Given the description of an element on the screen output the (x, y) to click on. 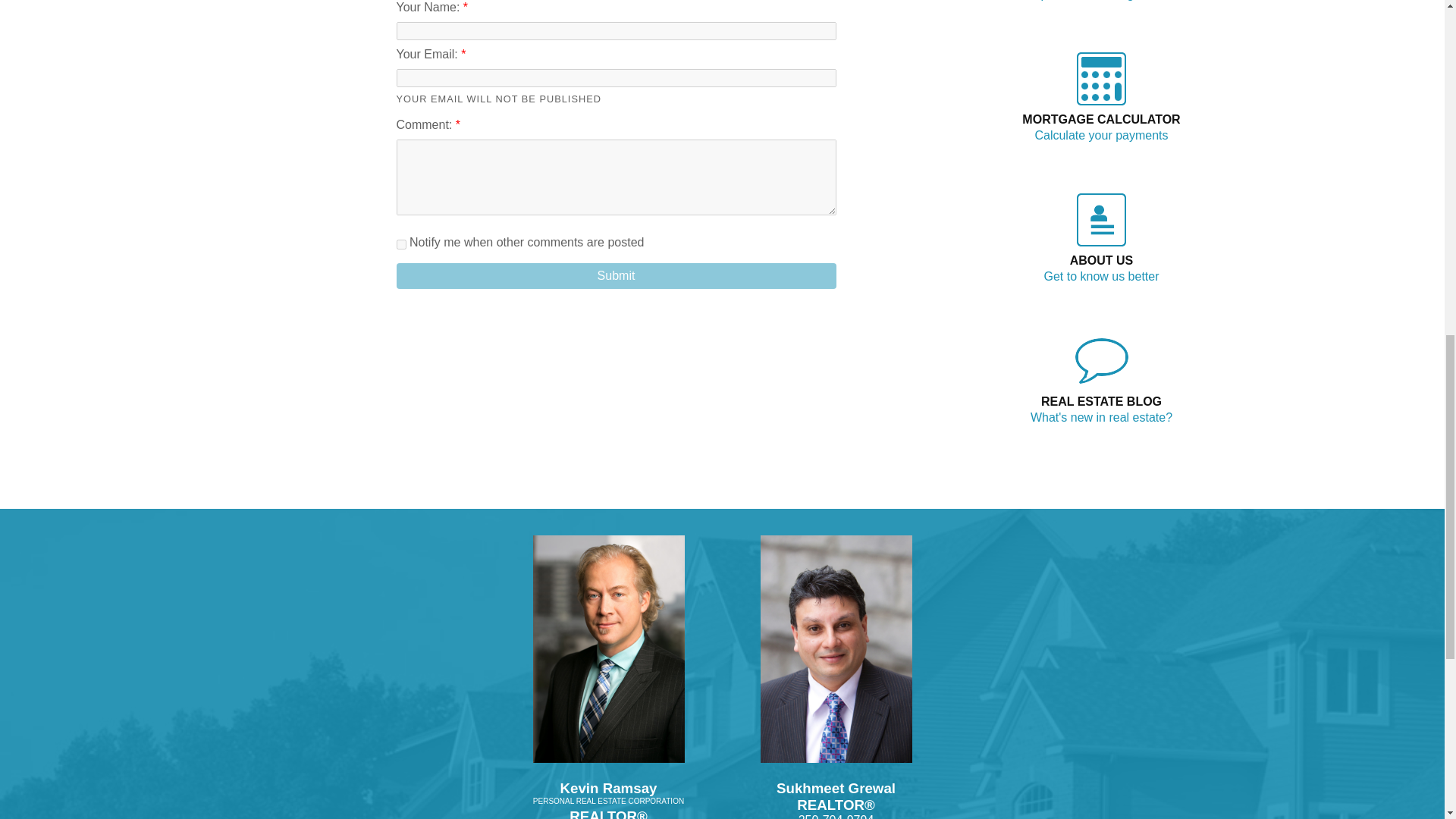
Get to know us better (1100, 276)
Submit (615, 275)
What's new in real estate? (1101, 417)
Calculate your payments (1100, 134)
Notify me when other comments are posted (401, 244)
